Given the description of an element on the screen output the (x, y) to click on. 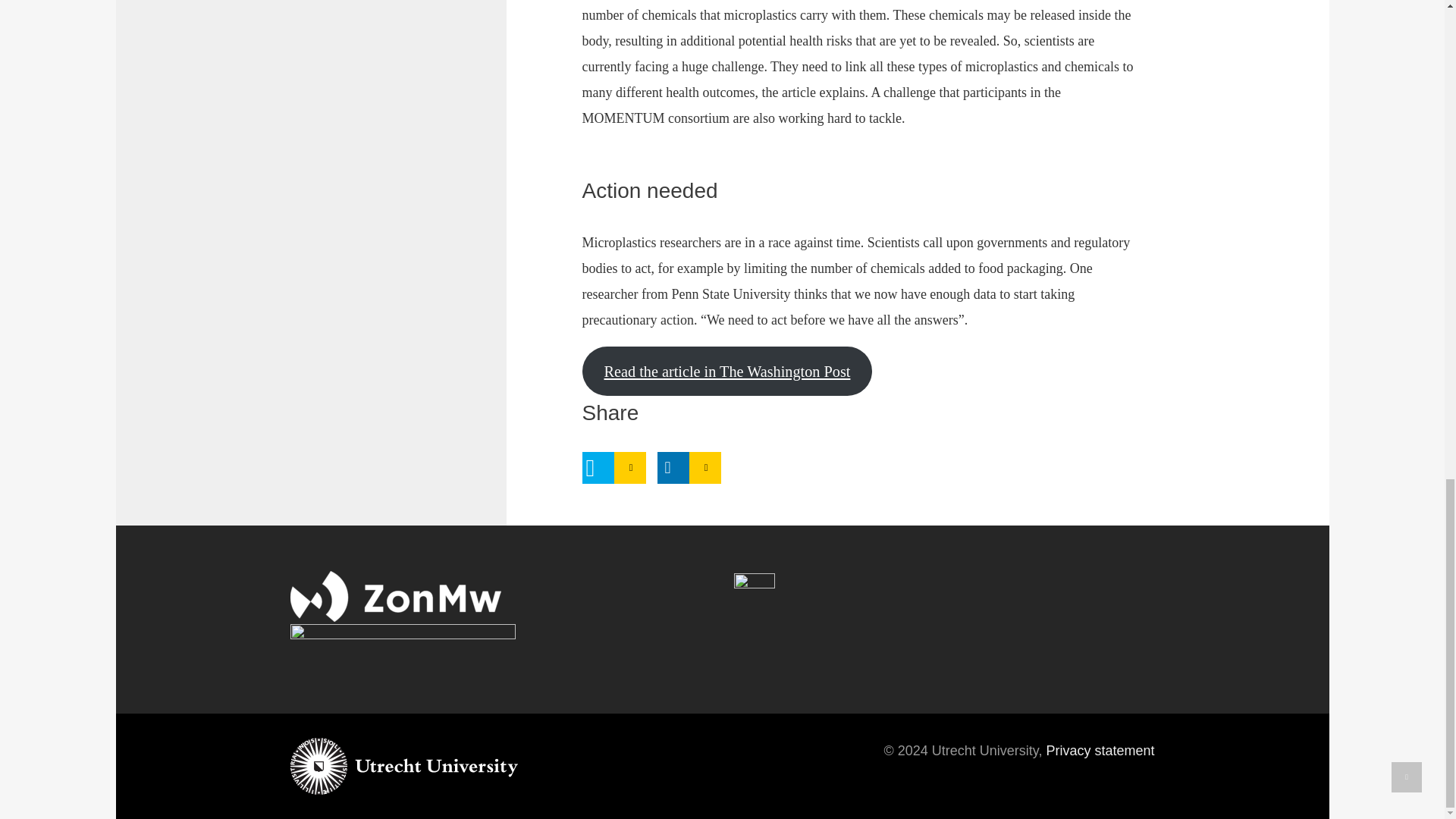
LinkedIn (672, 468)
Twitter (598, 468)
Read the article in The Washington Post (727, 370)
Privacy statement (1099, 750)
